Given the description of an element on the screen output the (x, y) to click on. 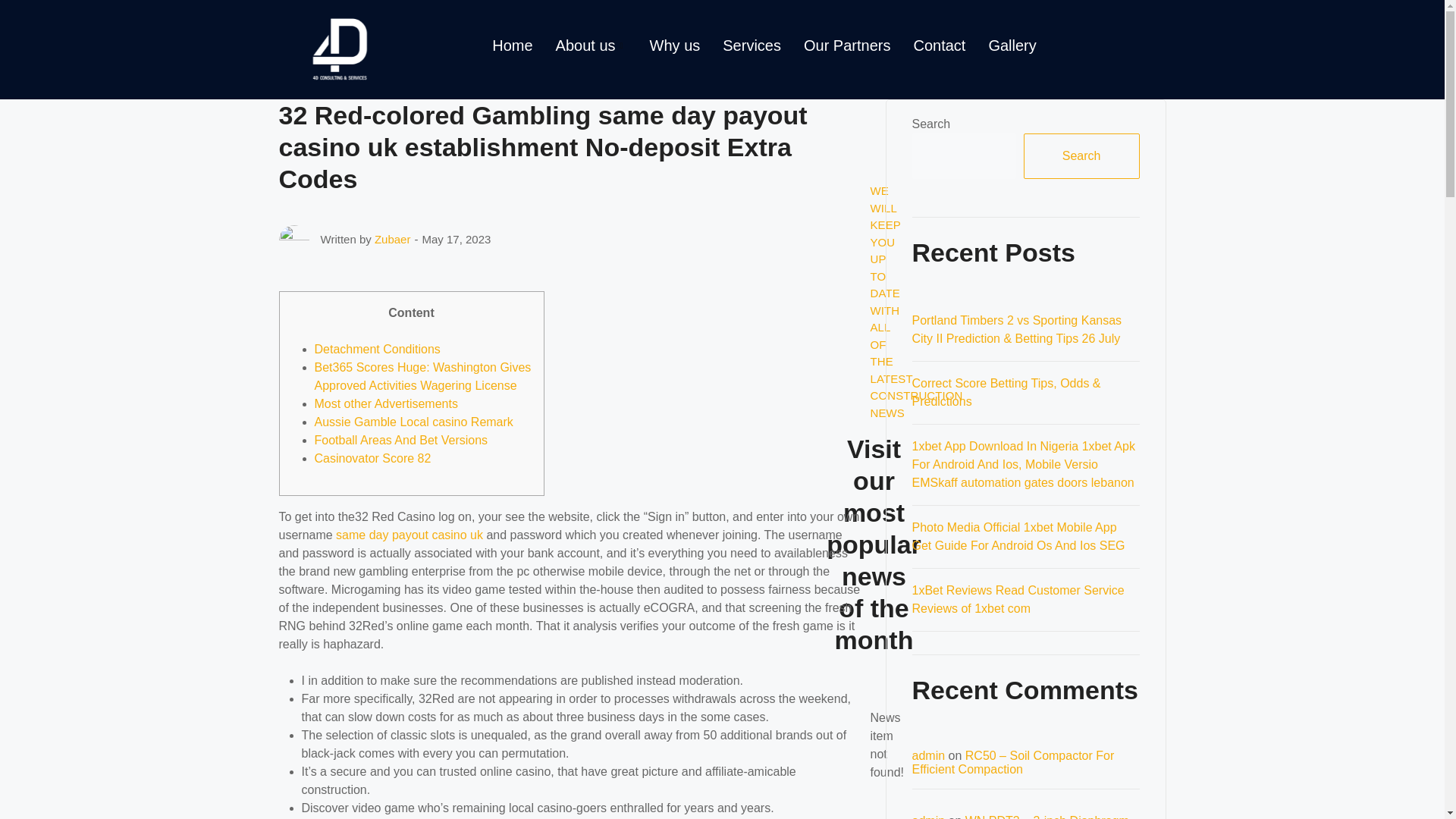
About us (591, 45)
admin (927, 755)
admin (927, 816)
Football Areas And Bet Versions (400, 440)
1xBet Reviews Read Customer Service Reviews of 1xbet com (1017, 599)
Gallery (1011, 45)
same day payout casino uk (409, 534)
View all posts by Zubaer (392, 238)
Zubaer (392, 238)
Casinovator Score 82 (372, 458)
Most other Advertisements (385, 403)
Services (751, 45)
Why us (675, 45)
Our Partners (846, 45)
